Given the description of an element on the screen output the (x, y) to click on. 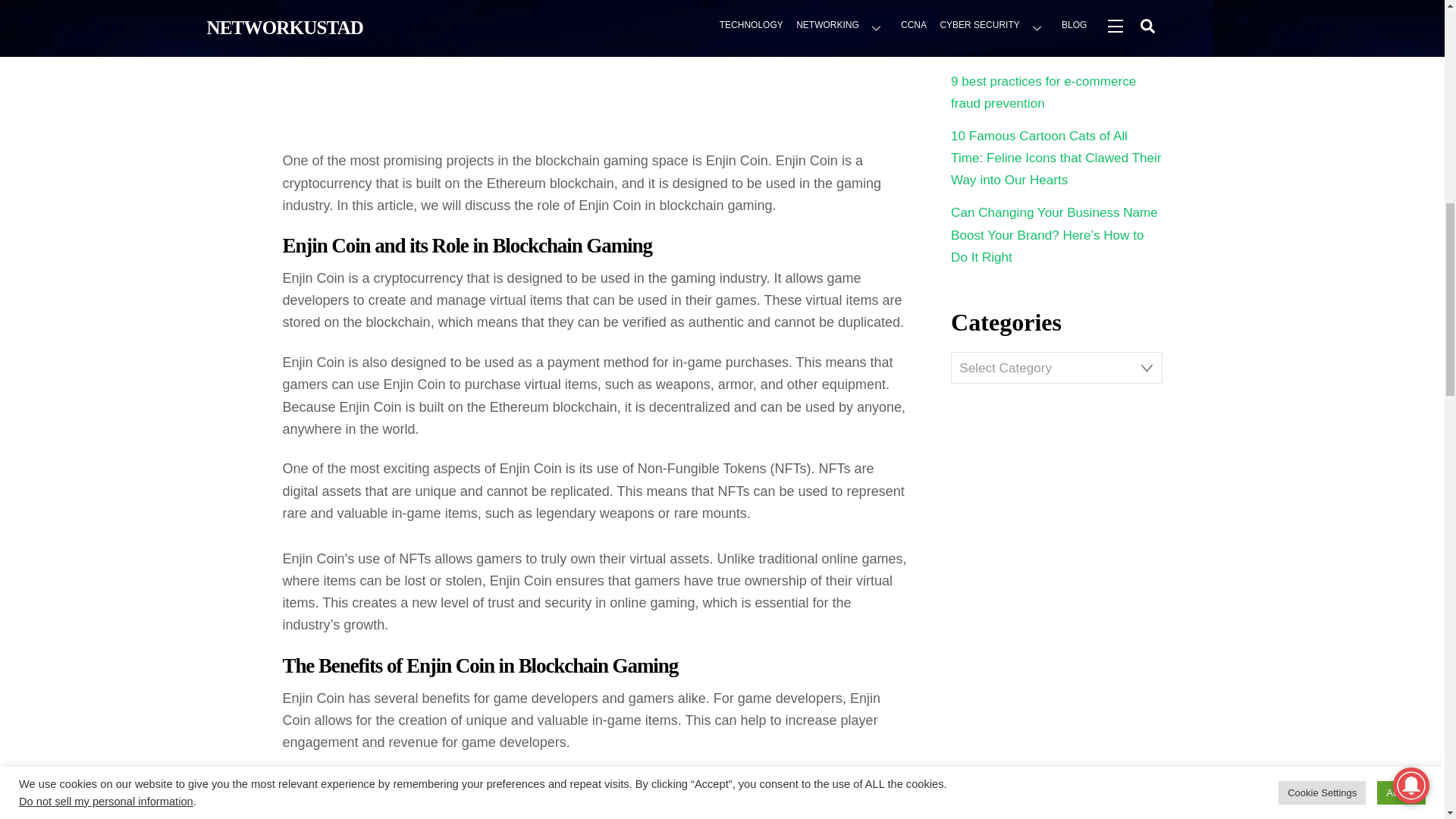
Advertisement (594, 74)
